Given the description of an element on the screen output the (x, y) to click on. 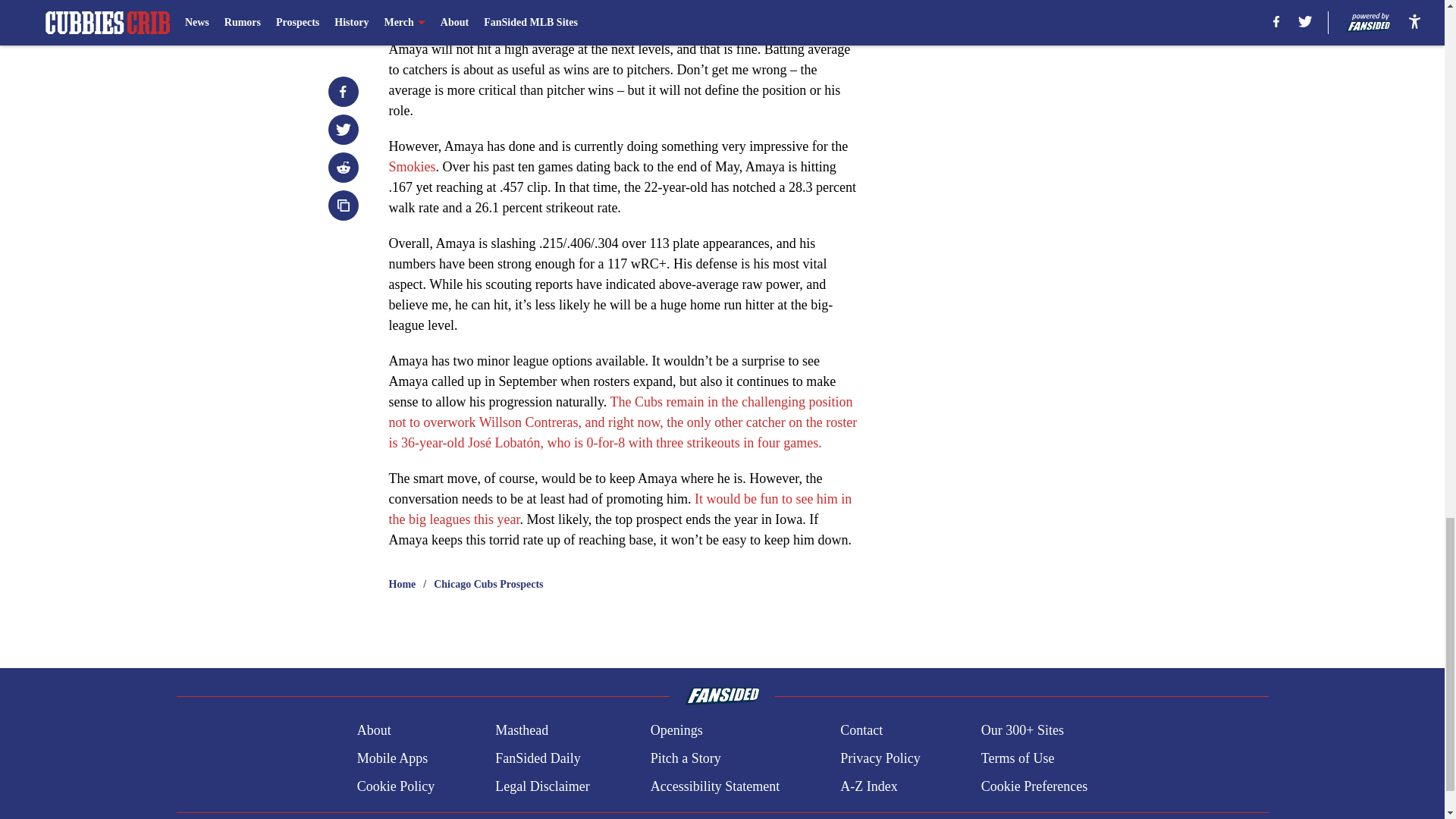
Chicago Cubs Prospects (488, 584)
Openings (676, 730)
Home (401, 584)
Mobile Apps (392, 758)
It would be fun to see him in the big leagues this year (619, 509)
Privacy Policy (880, 758)
Contact (861, 730)
FanSided Daily (537, 758)
Smokies (411, 166)
About (373, 730)
Masthead (521, 730)
Pitch a Story (685, 758)
